Given the description of an element on the screen output the (x, y) to click on. 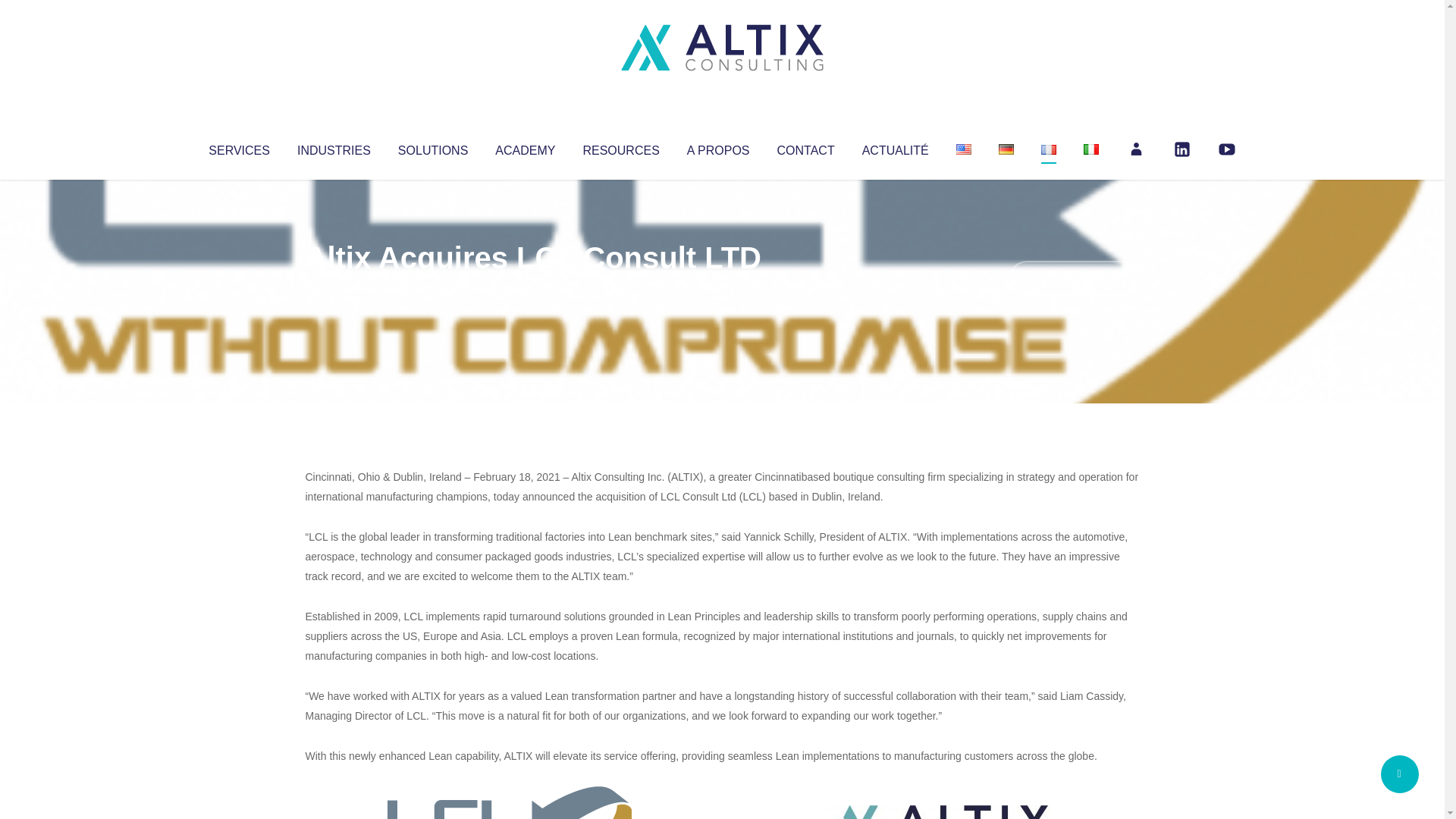
RESOURCES (620, 146)
SERVICES (238, 146)
ACADEMY (524, 146)
A PROPOS (718, 146)
Uncategorized (530, 287)
INDUSTRIES (334, 146)
SOLUTIONS (432, 146)
Articles par Altix (333, 287)
No Comments (1073, 278)
Altix (333, 287)
